Given the description of an element on the screen output the (x, y) to click on. 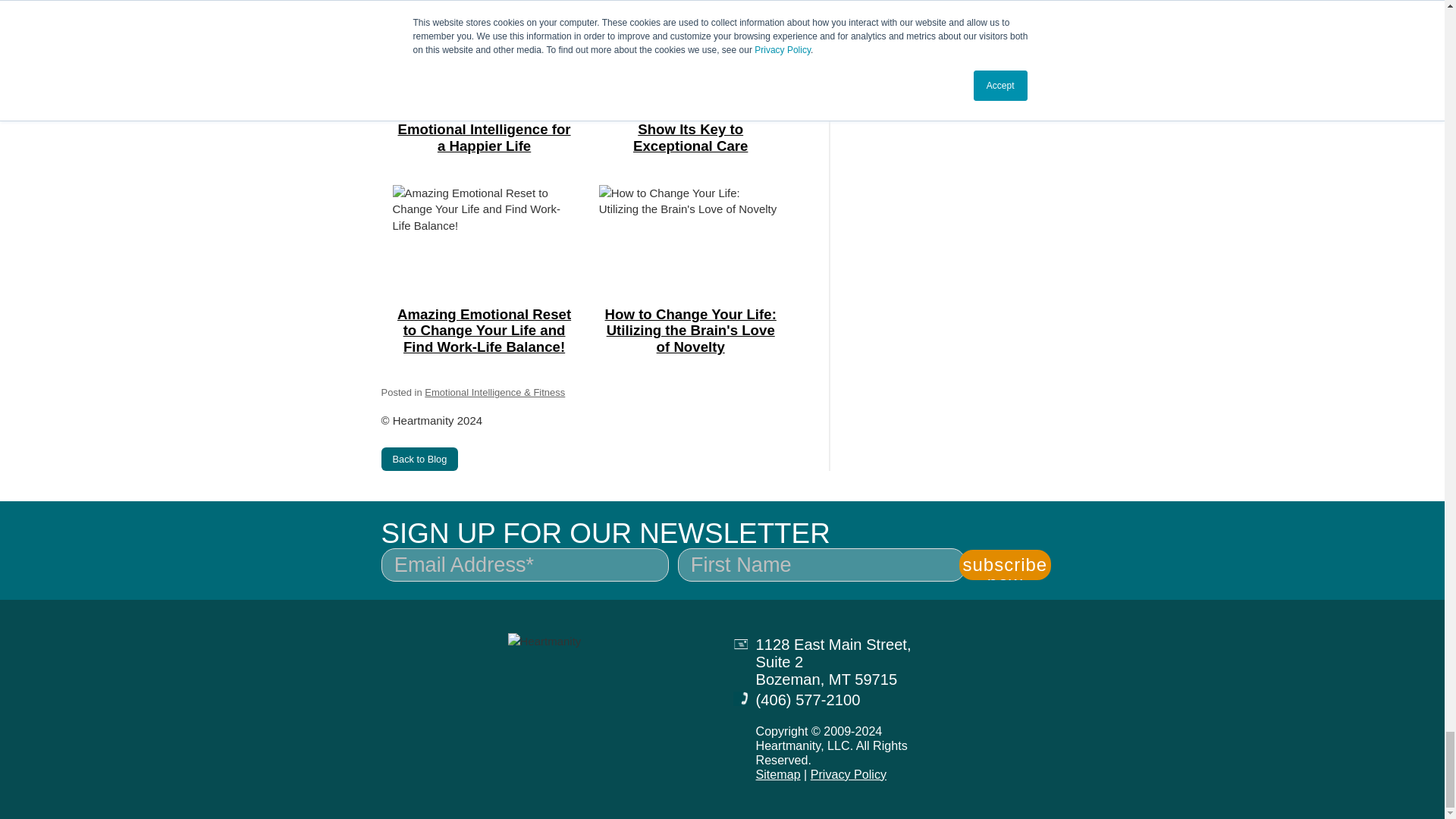
Subscribe Now (1004, 564)
